Given the description of an element on the screen output the (x, y) to click on. 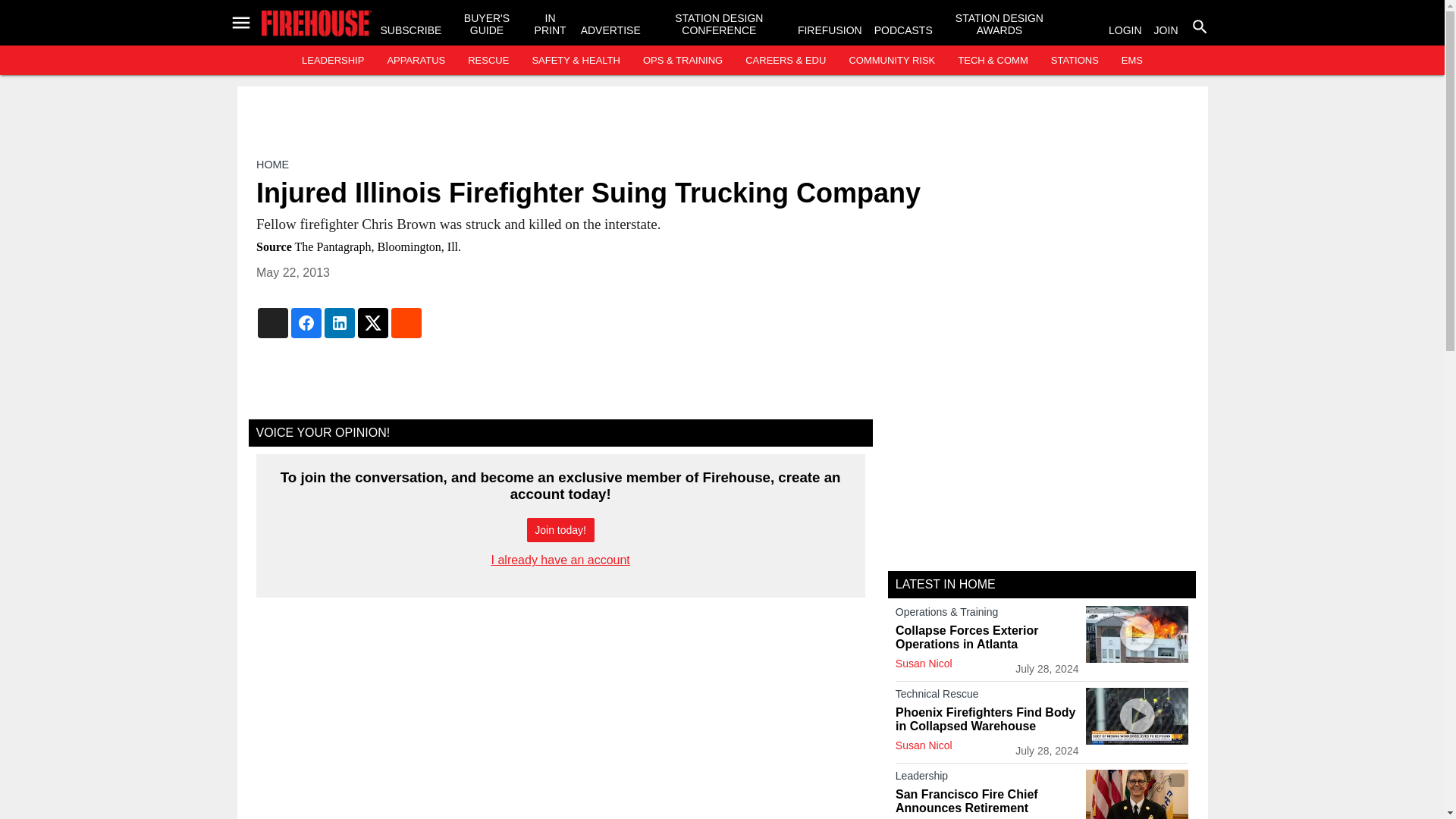
STATION DESIGN CONFERENCE (718, 24)
LEADERSHIP (332, 60)
BUYER'S GUIDE (486, 24)
JOIN (1165, 30)
PODCASTS (904, 30)
SUBSCRIBE (411, 30)
APPARATUS (416, 60)
Crews locate body in Phoenix warehouse roof collapse (1137, 715)
COMMUNITY RISK (891, 60)
STATIONS (1075, 60)
EMS (1131, 60)
STATION DESIGN AWARDS (999, 24)
FIREFUSION (829, 30)
LOGIN (1124, 30)
